Given the description of an element on the screen output the (x, y) to click on. 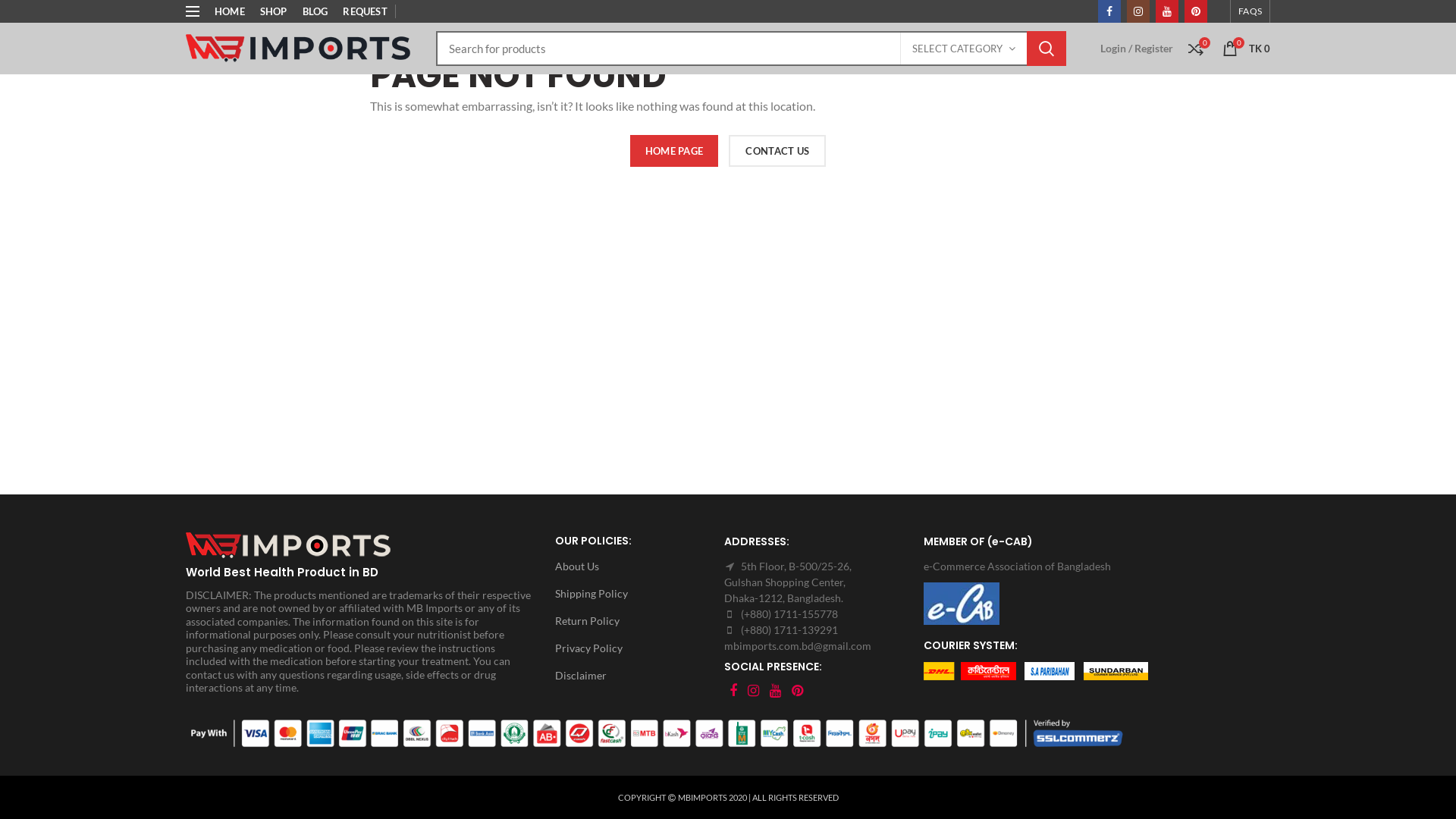
Shipping Policy Element type: text (635, 593)
Facebook Element type: text (733, 690)
SHOP Element type: text (273, 11)
0 Element type: text (1195, 48)
Disclaimer Element type: text (635, 675)
YouTube Element type: text (1166, 11)
Pinterest Element type: text (797, 690)
Privacy Policy Element type: text (635, 648)
Instagram Element type: text (753, 690)
Pinterest Element type: text (1195, 11)
OUR POLICIES: Element type: text (635, 540)
CONTACT US Element type: text (776, 150)
YouTube Element type: text (775, 690)
Return Policy Element type: text (635, 620)
shipping5 Element type: hover (1035, 671)
SEARCH Element type: text (1046, 48)
mbimports3 Element type: hover (291, 545)
HOME PAGE Element type: text (674, 150)
SELECT CATEGORY Element type: text (963, 48)
Facebook Element type: text (1109, 11)
REQUEST Element type: text (364, 11)
About Us Element type: text (635, 566)
BLOG Element type: text (314, 11)
Instagram Element type: text (1137, 11)
Login / Register Element type: text (1136, 47)
FAQS Element type: text (1249, 11)
0
TK 0 Element type: text (1245, 48)
HOME Element type: text (229, 11)
